Given the description of an element on the screen output the (x, y) to click on. 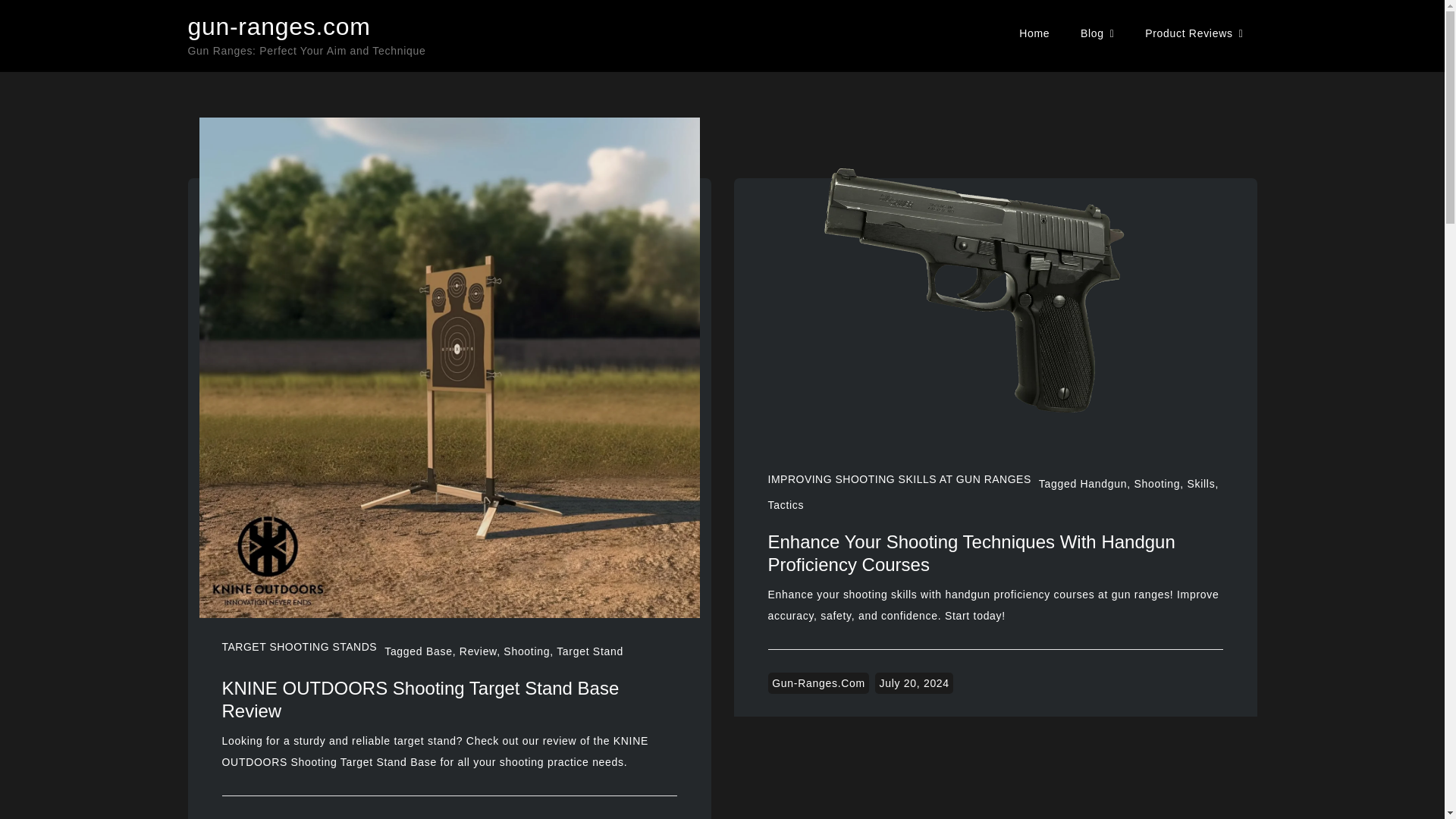
Target Stand (589, 651)
TARGET SHOOTING STANDS (299, 646)
IMPROVING SHOOTING SKILLS AT GUN RANGES (898, 479)
Product Reviews (1193, 33)
Shooting (526, 651)
Shooting (1156, 483)
Gun-Ranges.Com (818, 682)
Review (478, 651)
Home (1034, 33)
Handgun (1103, 483)
gun-ranges.com (279, 26)
Base (439, 651)
July 20, 2024 (913, 682)
Blog (1097, 33)
